Given the description of an element on the screen output the (x, y) to click on. 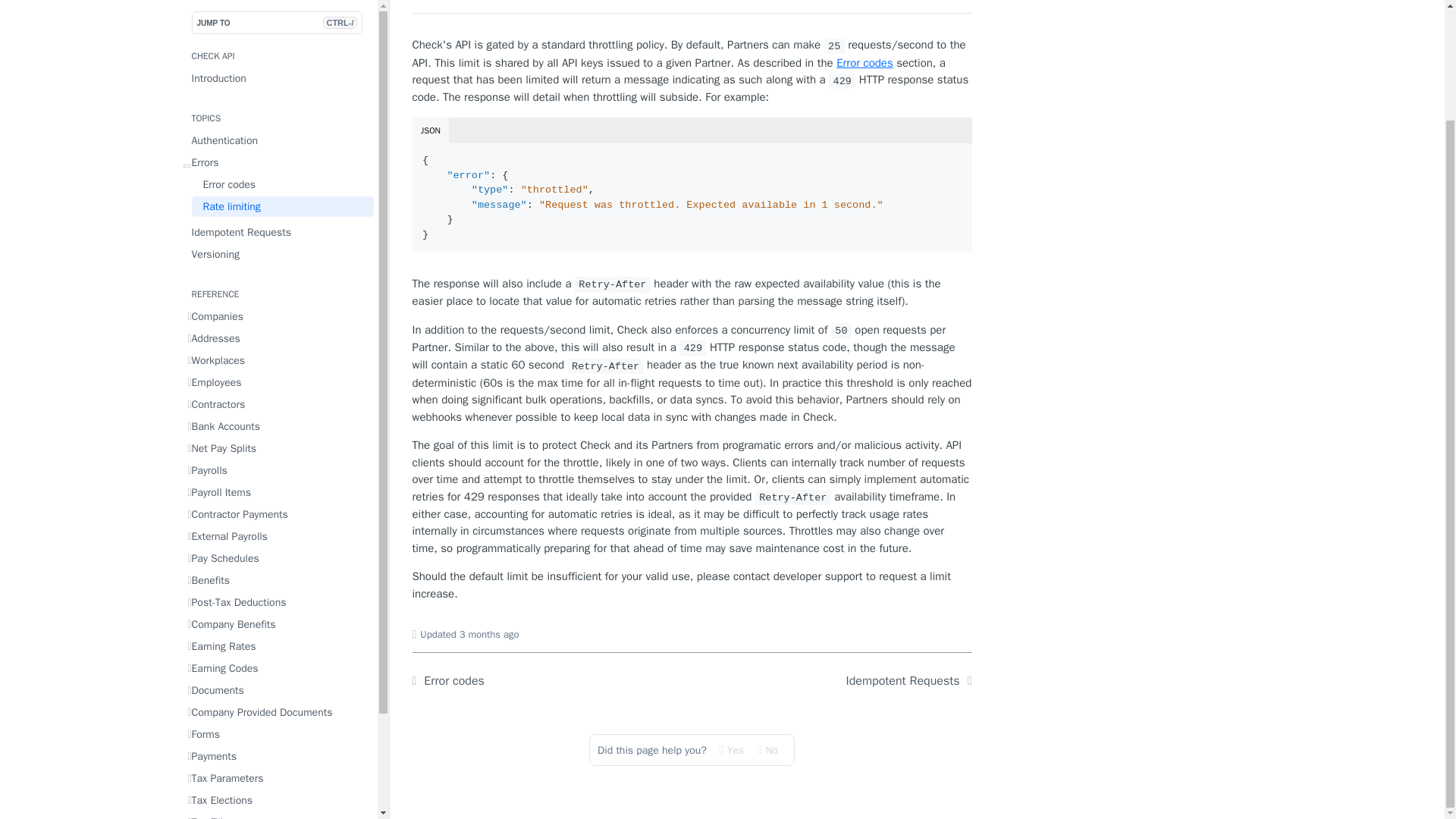
Error codes (281, 124)
Errors (277, 102)
Idempotent Requests (277, 172)
Introduction (277, 18)
Versioning (277, 194)
Rate limiting (281, 146)
Authentication (277, 80)
Companies (277, 256)
